Given the description of an element on the screen output the (x, y) to click on. 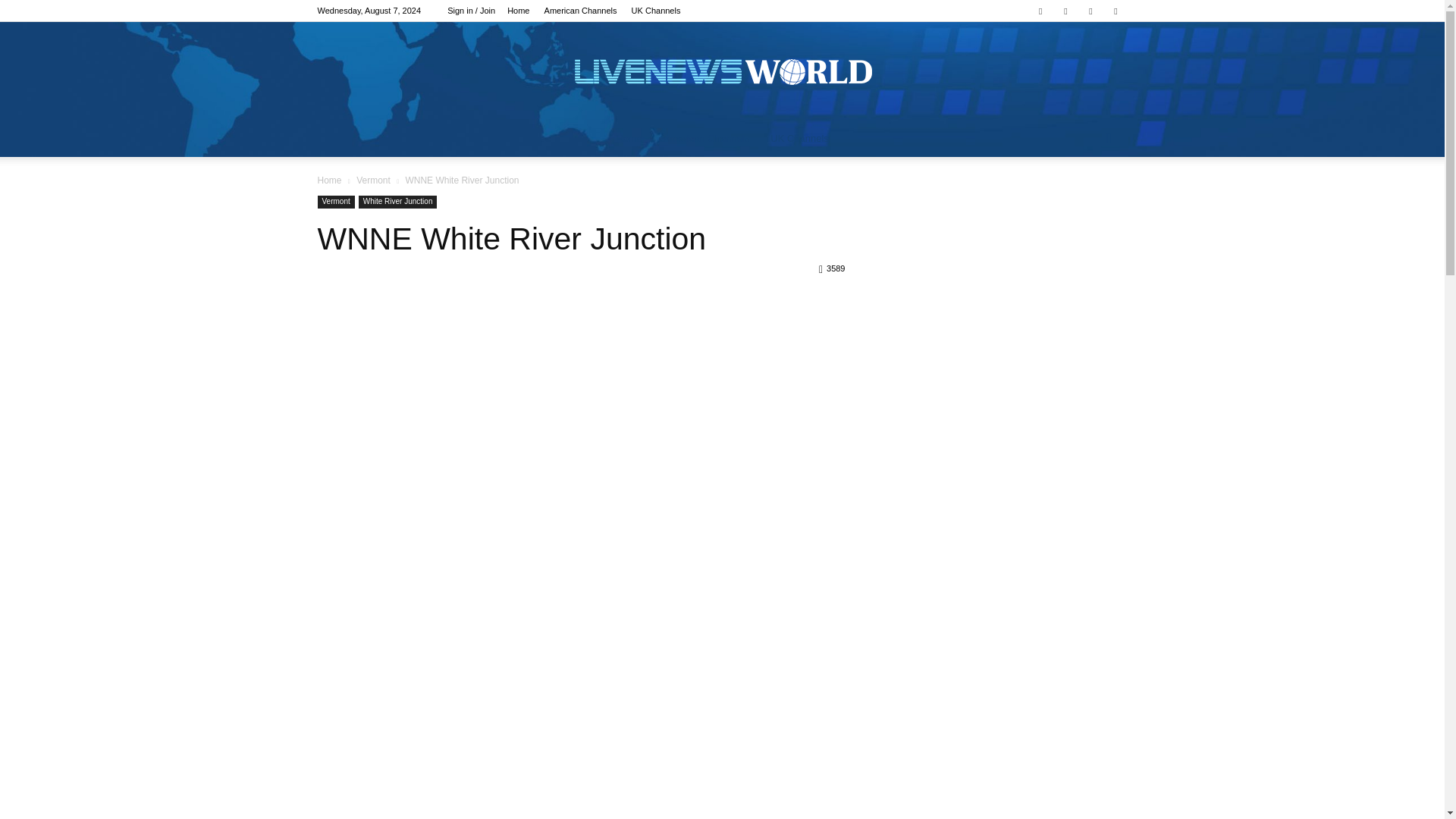
Twitter (1090, 10)
Facebook (1040, 10)
Pinterest (1065, 10)
Home (517, 10)
Youtube (1114, 10)
UK Channels (656, 10)
American Channels (580, 10)
View all posts in Vermont (373, 180)
